Given the description of an element on the screen output the (x, y) to click on. 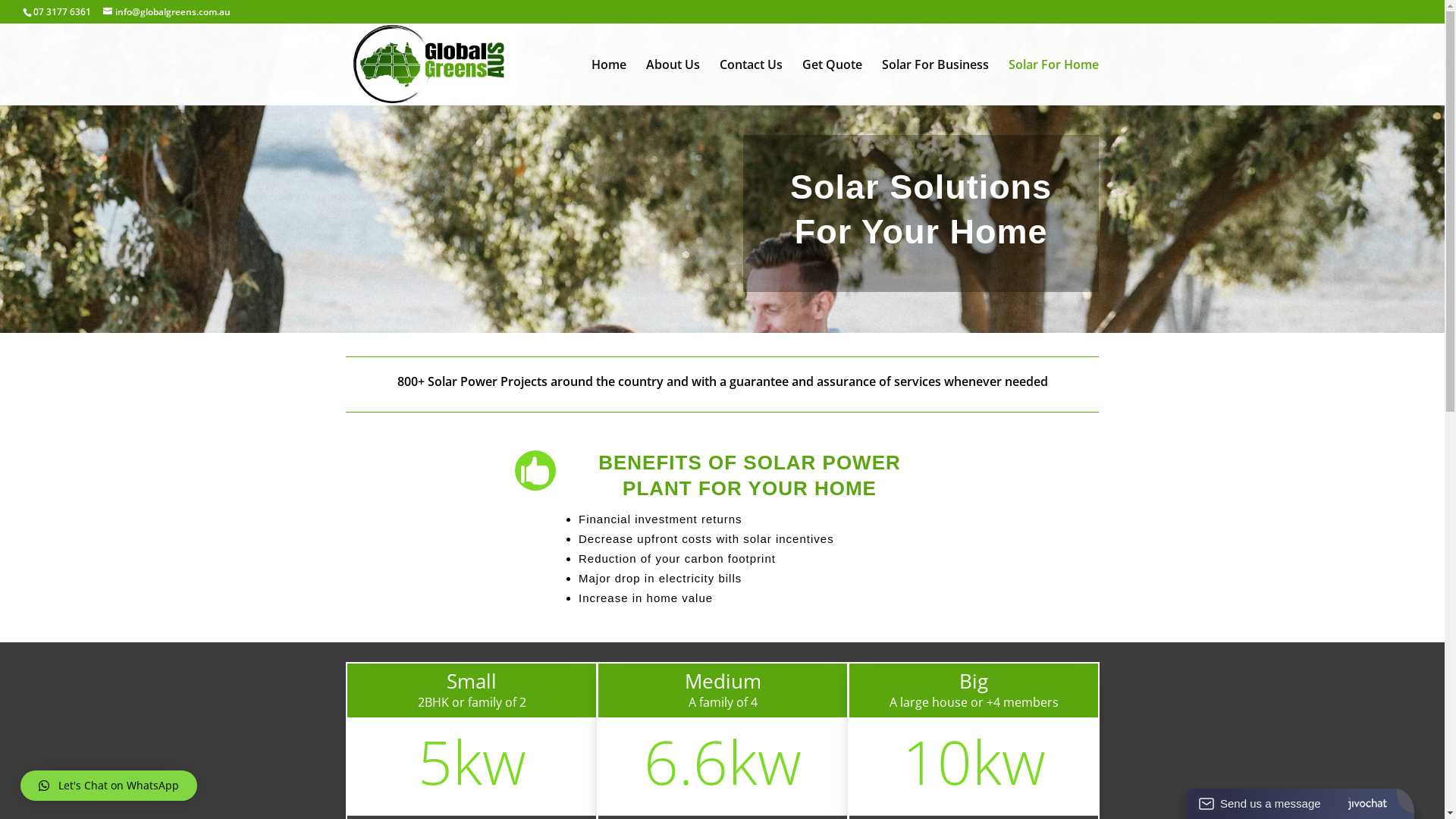
About Us Element type: text (672, 82)
Get Quote Element type: text (832, 82)
Solar For Business Element type: text (934, 82)
Home Element type: text (608, 82)
Solar For Home Element type: text (1053, 82)
info@globalgreens.com.au Element type: text (166, 11)
Let's Chat on WhatsApp Element type: text (108, 785)
Contact Us Element type: text (750, 82)
